Given the description of an element on the screen output the (x, y) to click on. 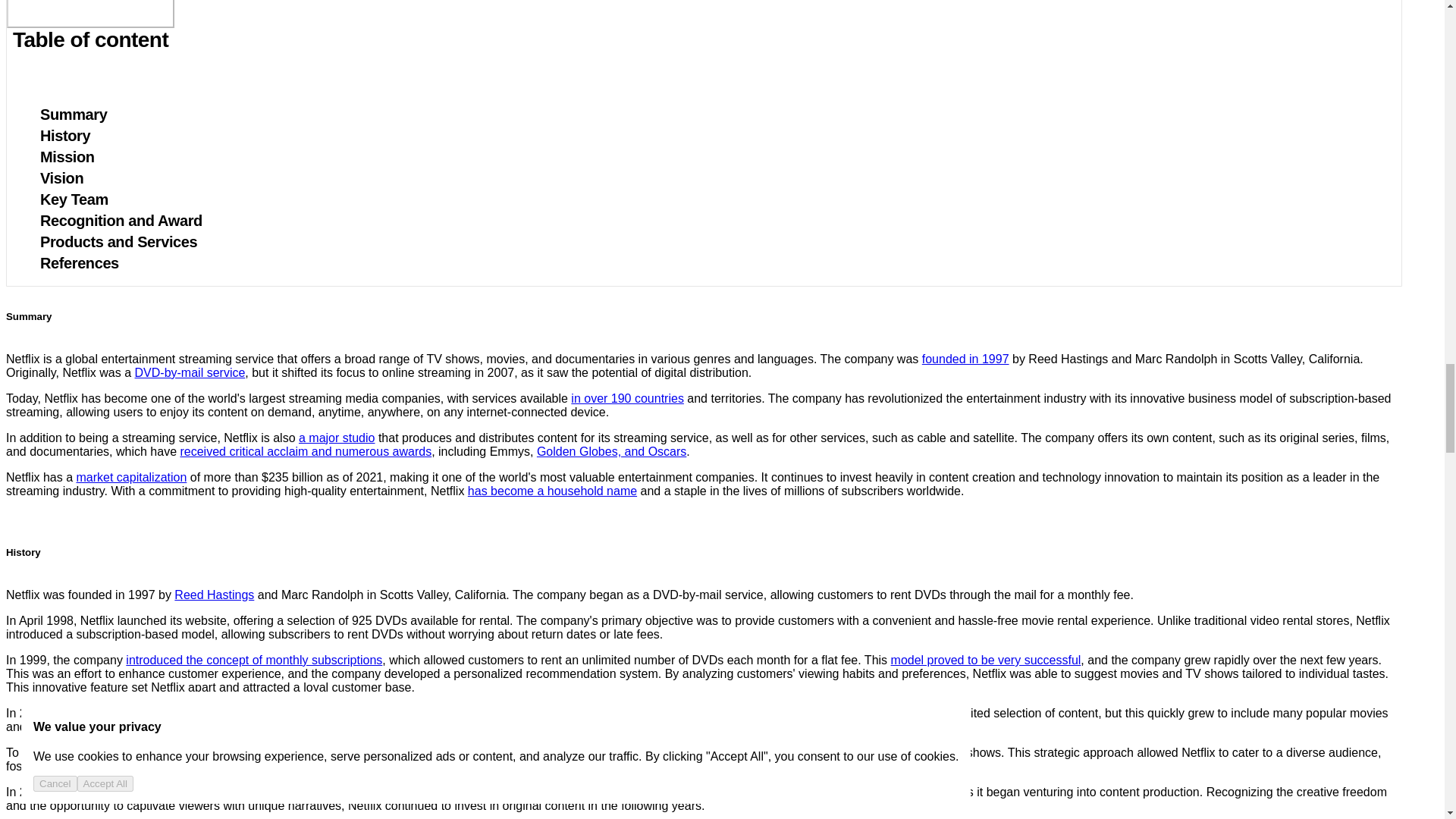
model proved to be very successful (986, 659)
Products and Services (111, 241)
Key Team (66, 199)
Mission (60, 156)
in over 190 countries (627, 398)
DVD-by-mail service (190, 372)
Table of content (90, 13)
Reed Hastings (213, 594)
Recognition and Award (114, 220)
Golden Globes, and Oscars (611, 451)
References (71, 263)
History (57, 135)
introduced the concept of monthly subscriptions (253, 659)
has become a household name (552, 490)
founded in 1997 (965, 358)
